Given the description of an element on the screen output the (x, y) to click on. 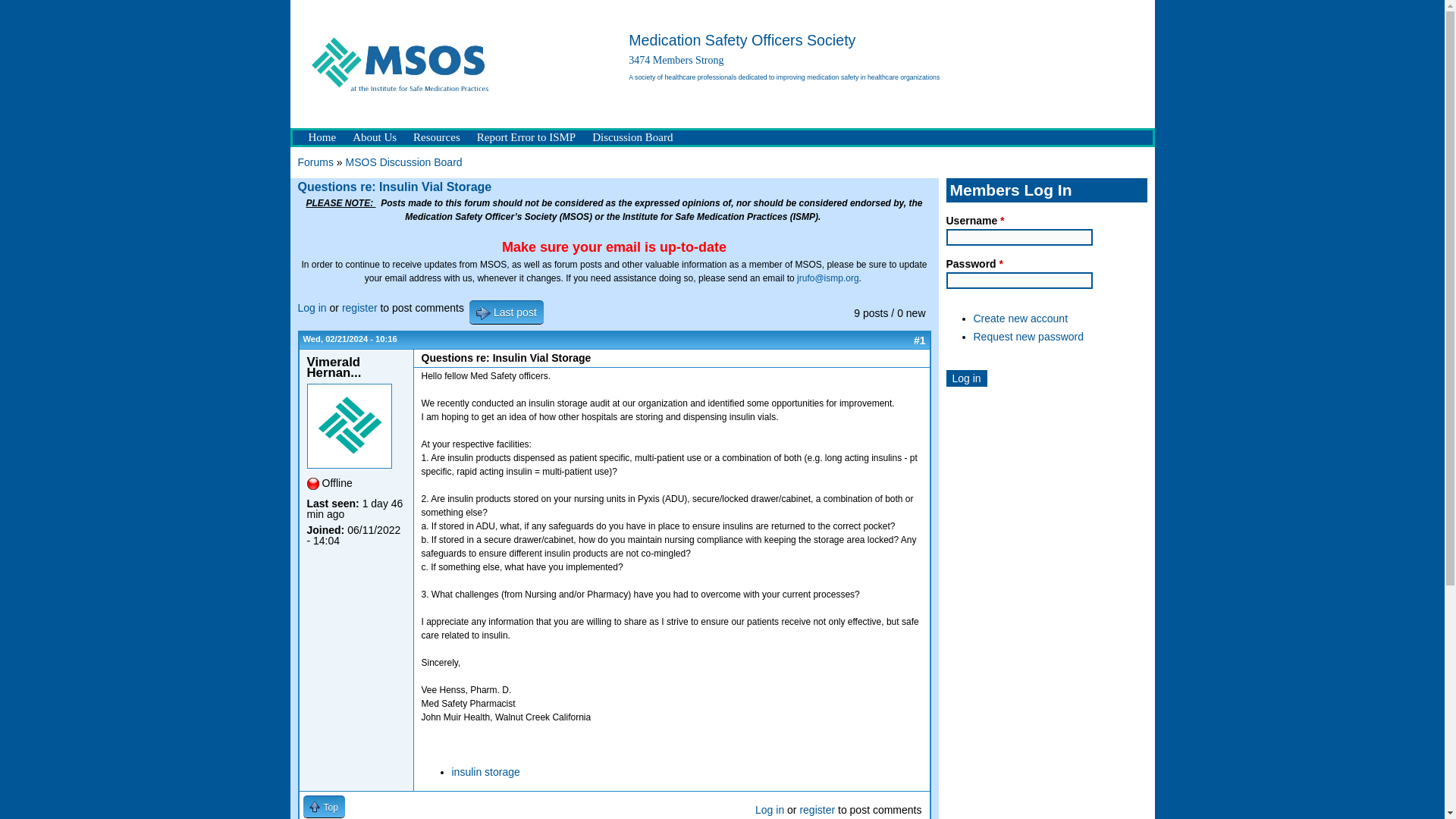
Vimerald Hernando Henss's picture (348, 426)
Request new password via e-mail. (1029, 336)
insulin storage (485, 771)
Create a new user account. (1021, 318)
register (816, 809)
Home (321, 137)
Log in (966, 378)
Top (323, 806)
Request new password (1029, 336)
Log in (769, 809)
register (359, 307)
Last post (505, 311)
Report Error to ISMP (525, 137)
About Medication Safety Officers Society (374, 137)
MSOS Discussion Board (404, 162)
